Given the description of an element on the screen output the (x, y) to click on. 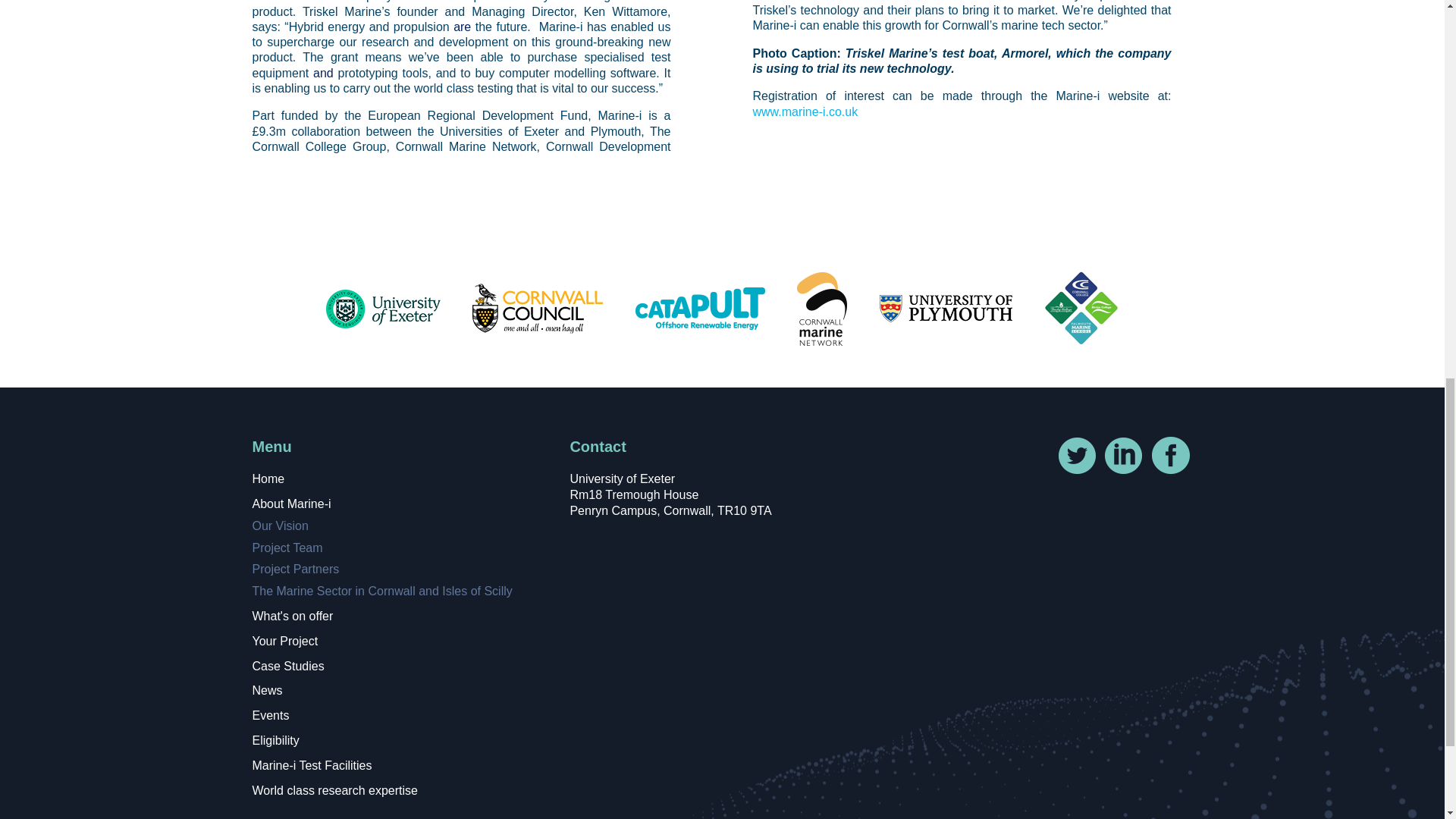
www.marine-i.co.uk (804, 111)
Home (267, 478)
